Given the description of an element on the screen output the (x, y) to click on. 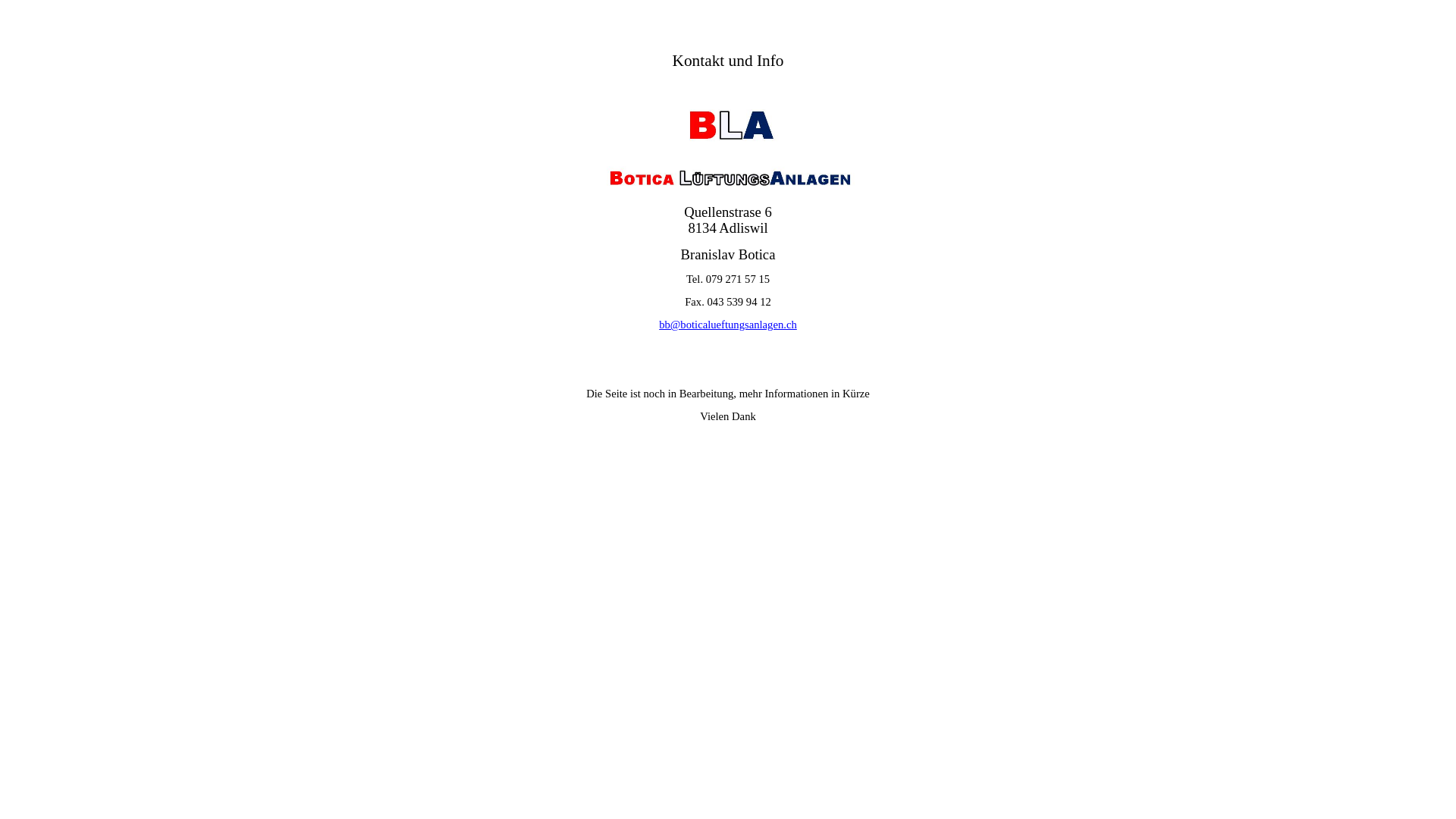
bb@boticalueftungsanlagen.ch Element type: text (727, 324)
